Given the description of an element on the screen output the (x, y) to click on. 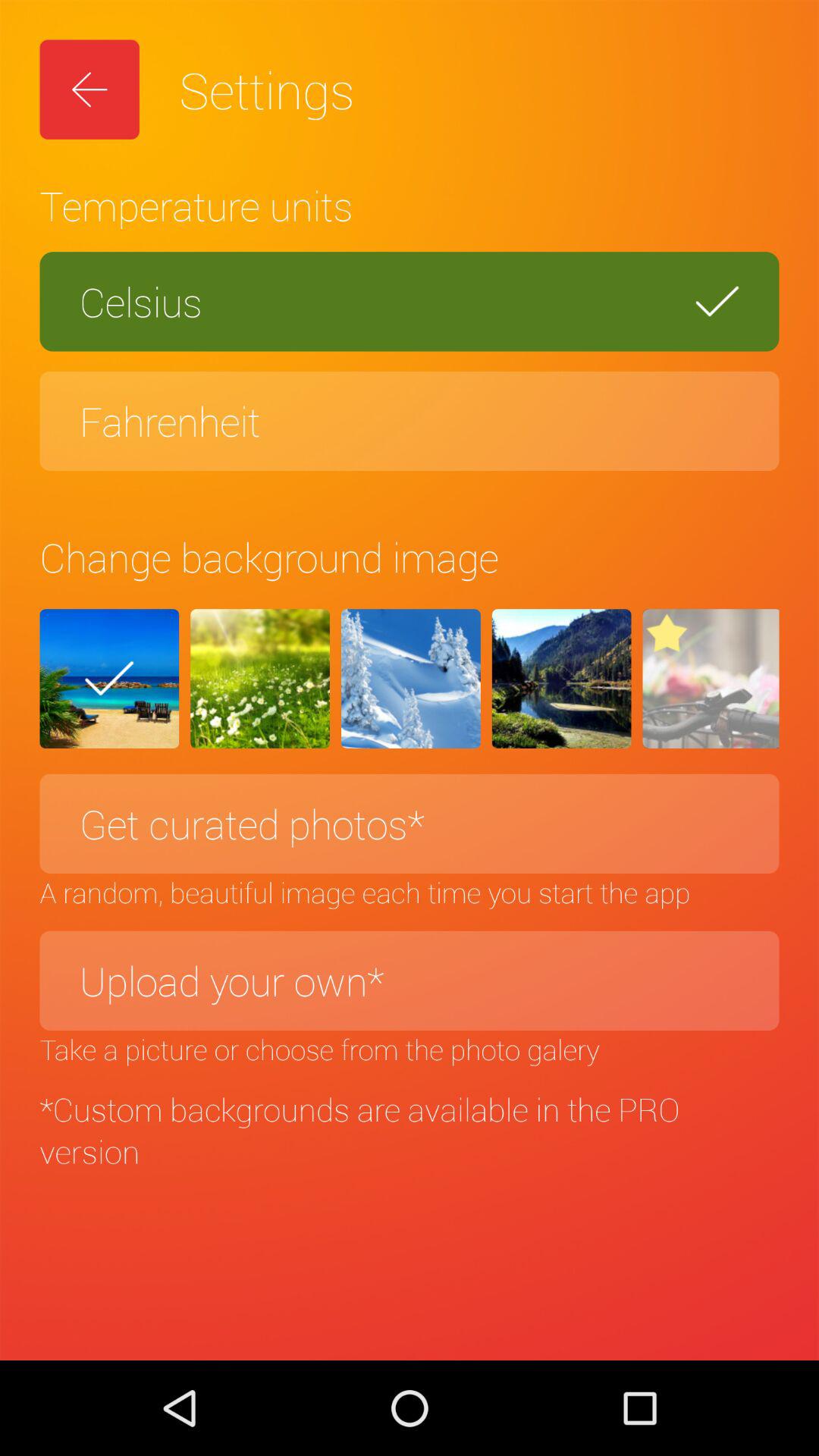
tap item below the take a picture (409, 1130)
